Given the description of an element on the screen output the (x, y) to click on. 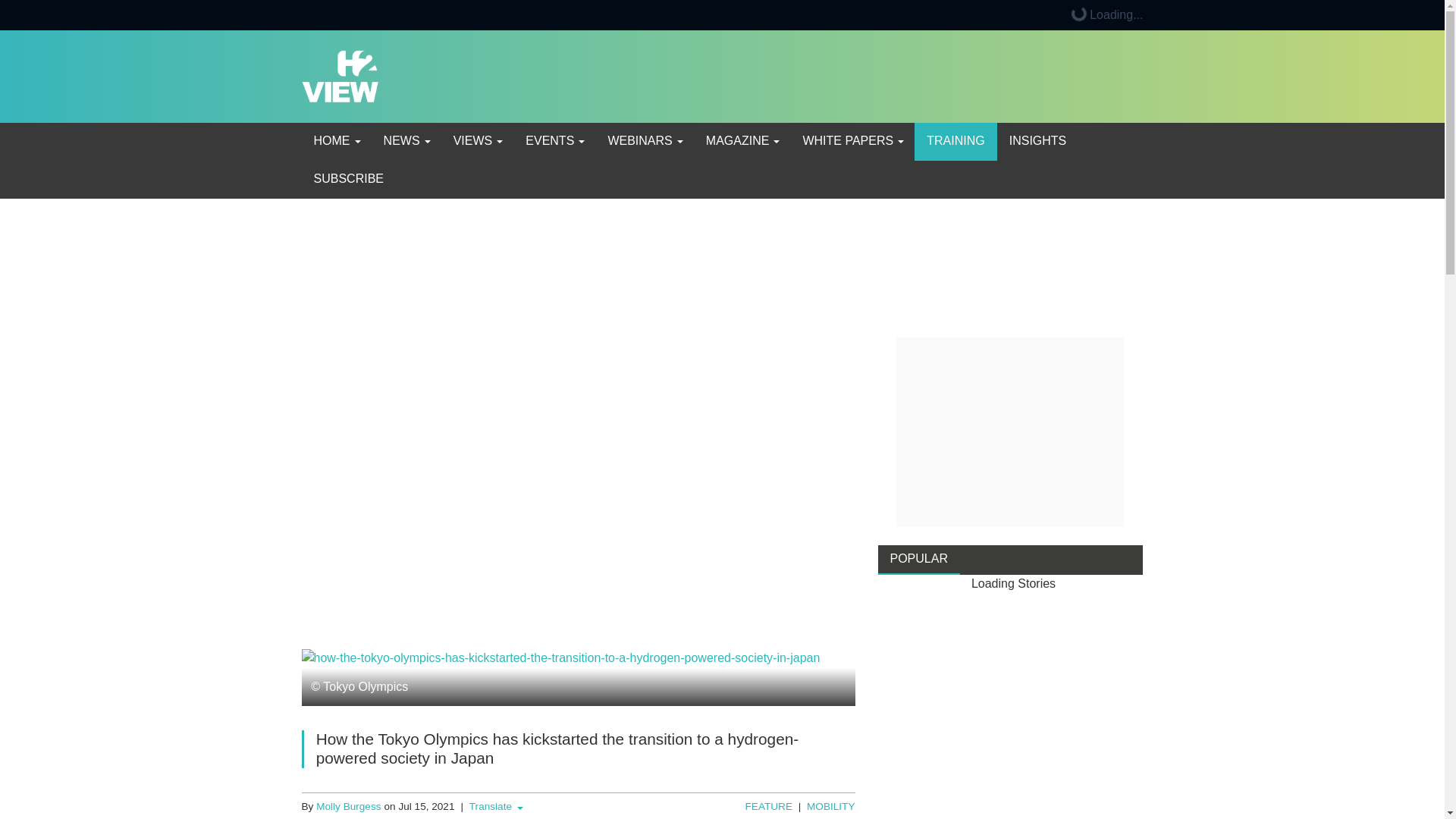
H2 View (339, 74)
News (406, 140)
VIEWS (477, 140)
NEWS (406, 140)
HOME (336, 140)
Home (336, 140)
